Given the description of an element on the screen output the (x, y) to click on. 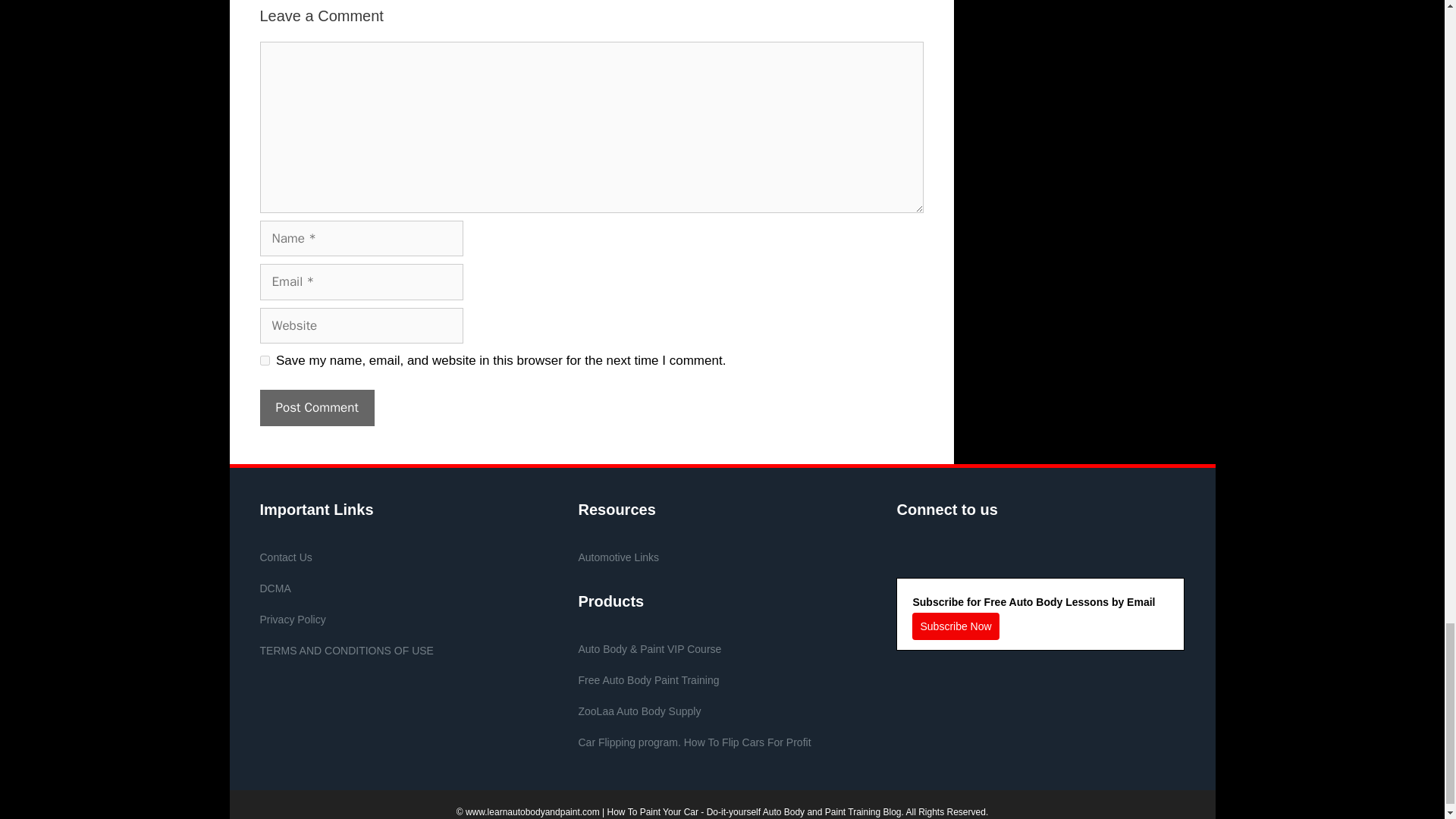
yes (264, 360)
Post Comment (316, 407)
Post Comment (316, 407)
